Given the description of an element on the screen output the (x, y) to click on. 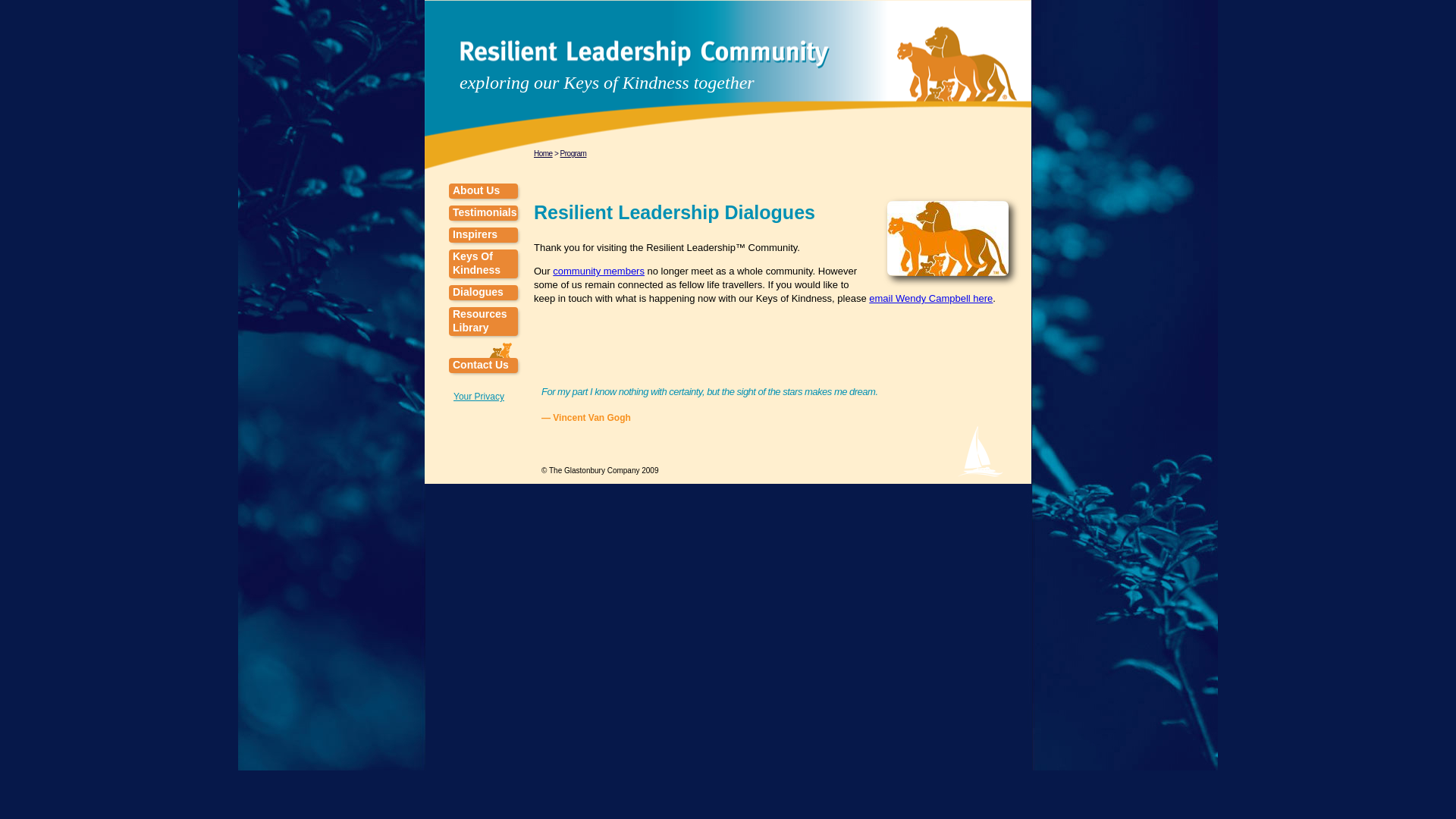
Testimonials (483, 212)
Keys Of Kindness (483, 263)
Program (573, 153)
Dialogues (483, 292)
Contact Us (483, 365)
About Us (483, 191)
community members (599, 270)
Your Privacy (477, 396)
Inspirers (483, 234)
Resources Library (483, 321)
